Given the description of an element on the screen output the (x, y) to click on. 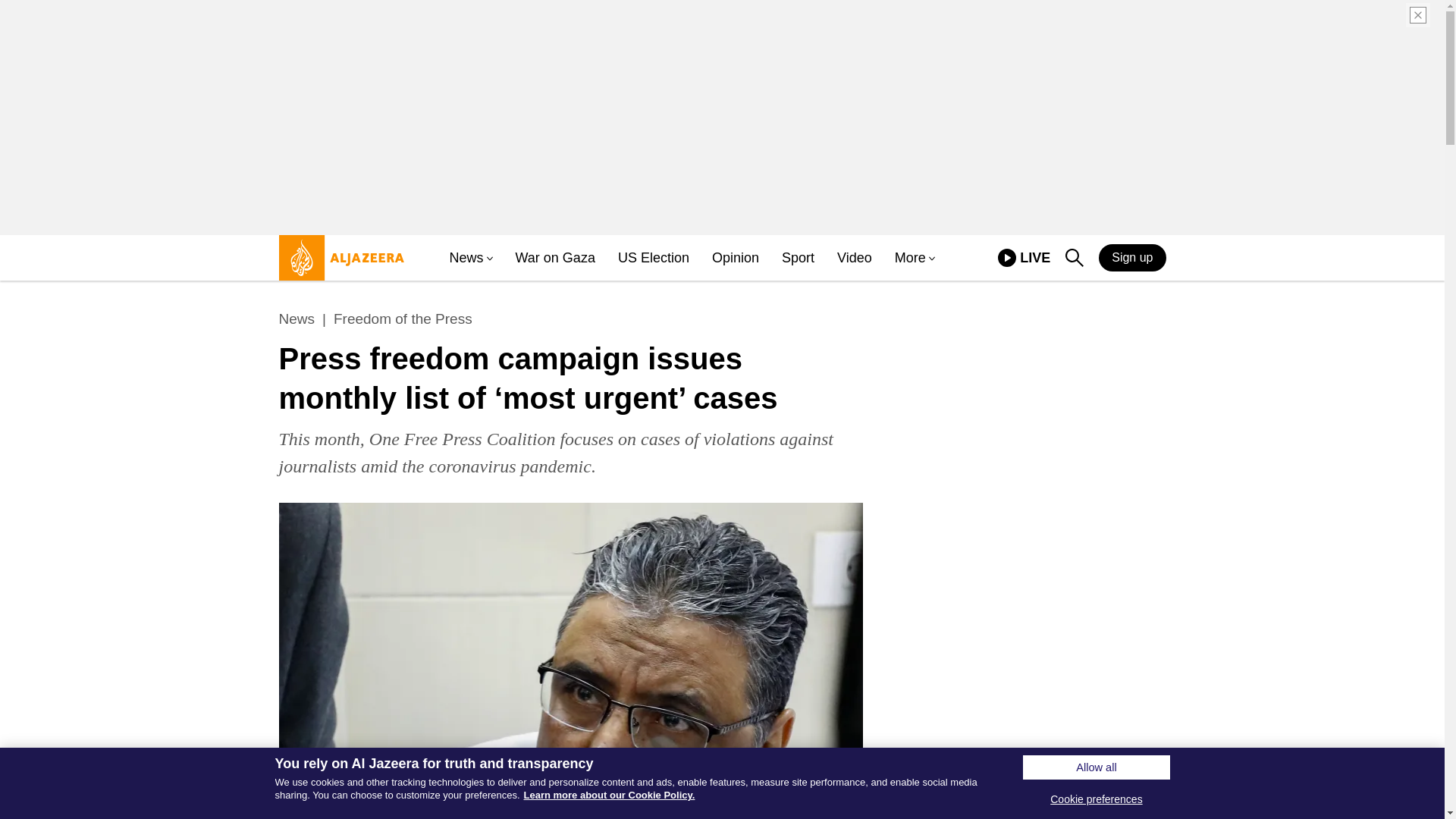
Video (854, 257)
Sign up (1132, 257)
News (297, 319)
play (1006, 257)
Sport (797, 257)
Freedom of the Press (402, 319)
More (910, 257)
Skip to Content (337, 264)
Opinion (734, 257)
US Election (652, 257)
